Given the description of an element on the screen output the (x, y) to click on. 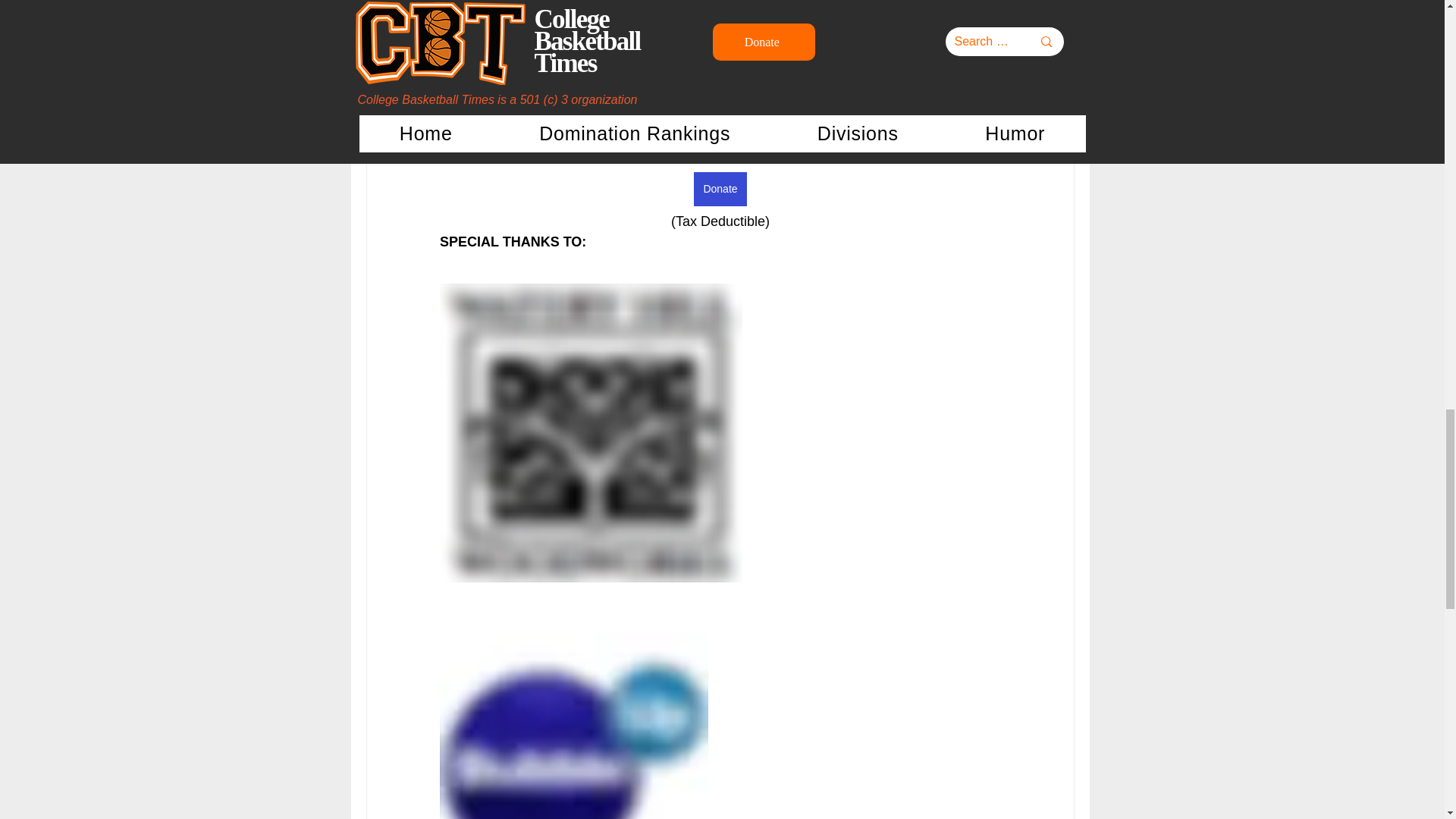
Donate (719, 188)
